Given the description of an element on the screen output the (x, y) to click on. 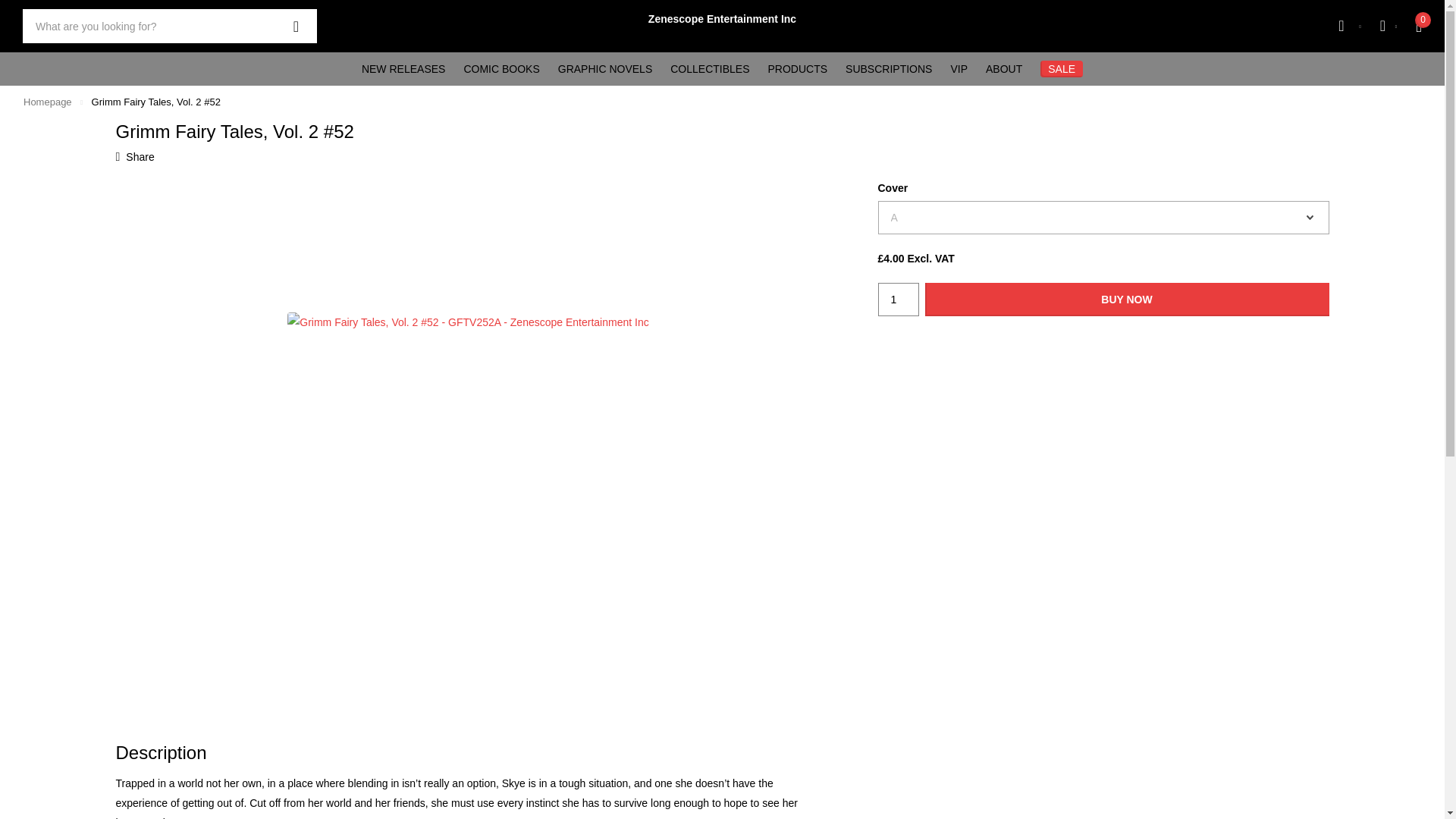
1 (897, 299)
Zoeken (296, 26)
Home (47, 101)
COMIC BOOKS (500, 68)
NEW RELEASES (403, 68)
